Given the description of an element on the screen output the (x, y) to click on. 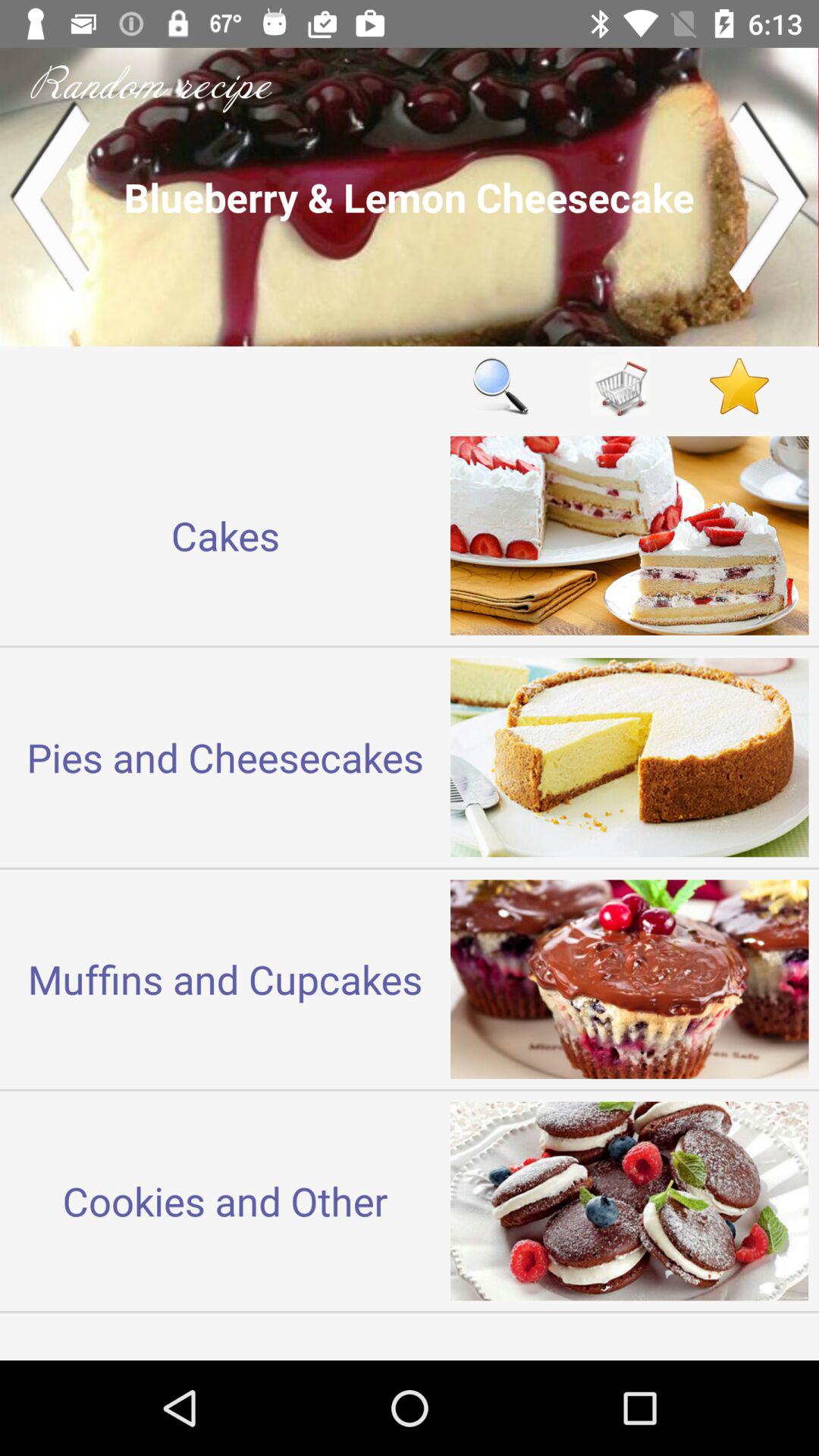
click icon below muffins and cupcakes item (225, 1200)
